Given the description of an element on the screen output the (x, y) to click on. 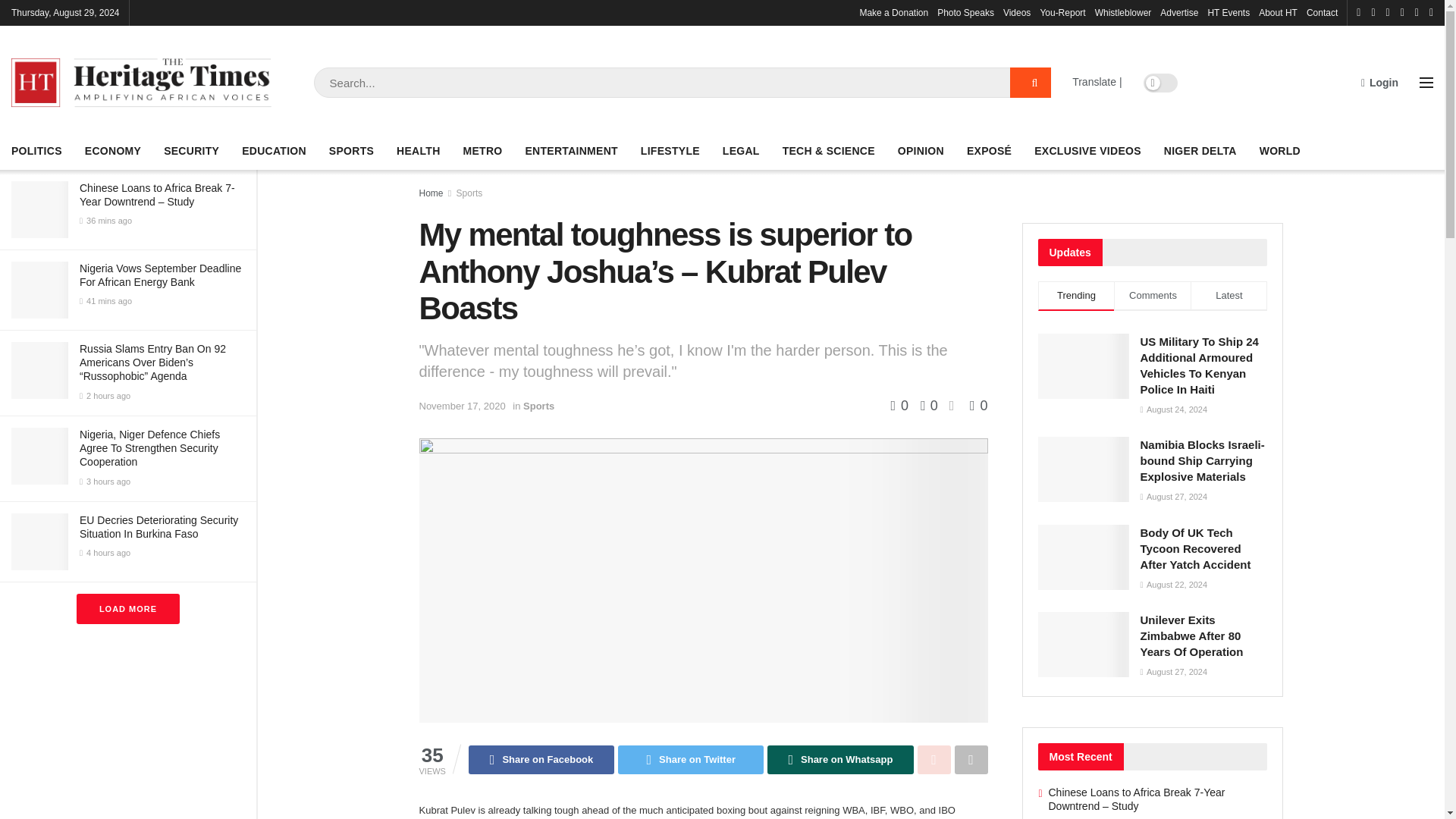
Make a Donation (893, 12)
HT Events (1228, 12)
Videos (1016, 12)
You-Report (1061, 12)
Filter (227, 13)
About HT (1278, 12)
Photo Speaks (965, 12)
EU Decries Deteriorating Security Situation In Burkina Faso (159, 526)
Contact (1322, 12)
